Given the description of an element on the screen output the (x, y) to click on. 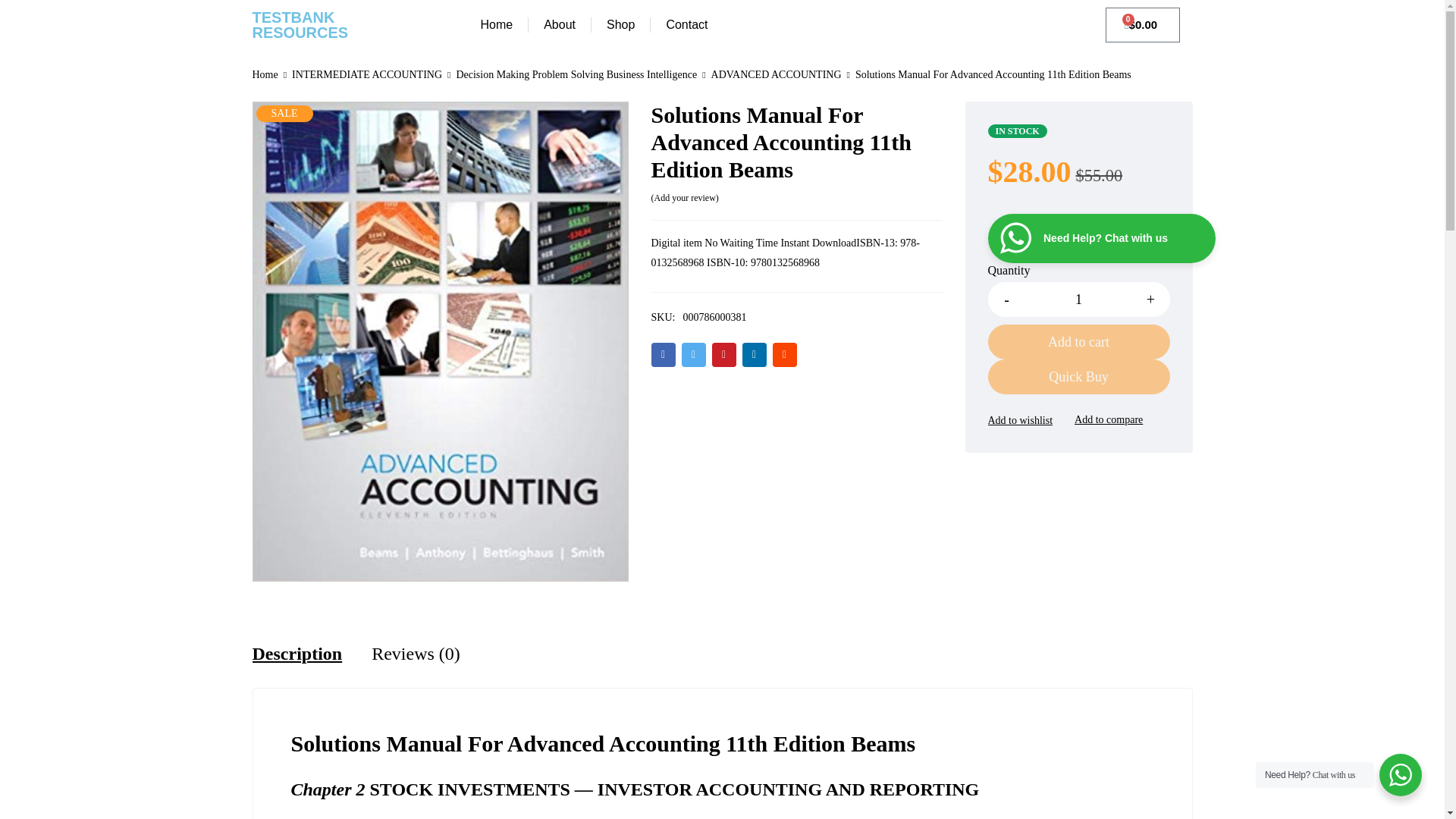
1 (1078, 298)
Contact (686, 24)
About (559, 24)
Shop (620, 24)
Description (296, 653)
TESTBANK RESOURCES (299, 24)
Compare (1108, 420)
- (1006, 298)
Home (264, 75)
ADVANCED ACCOUNTING (776, 75)
